Given the description of an element on the screen output the (x, y) to click on. 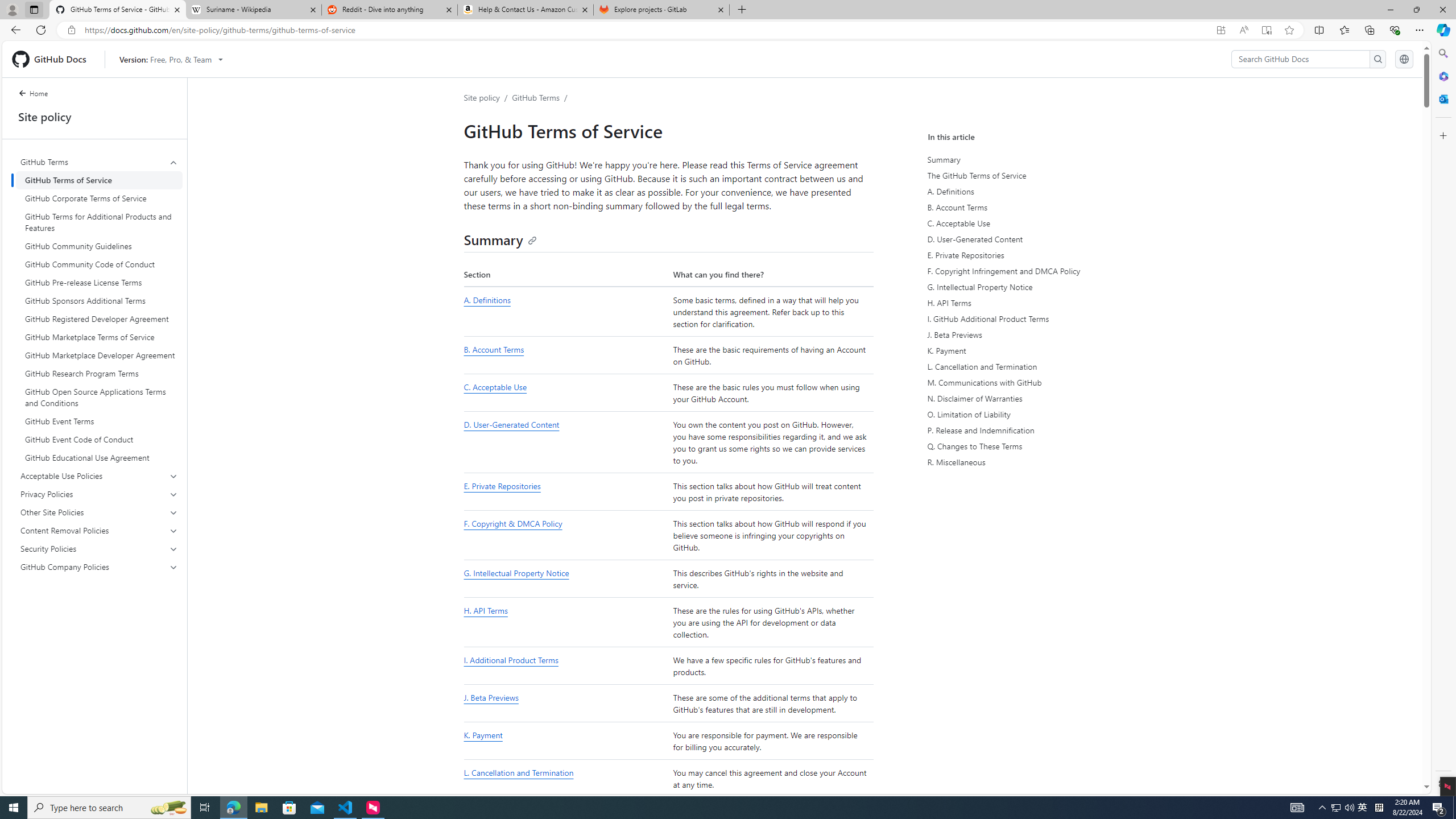
GitHub Marketplace Terms of Service (99, 337)
The GitHub Terms of Service (1034, 175)
Content Removal Policies (99, 530)
D. User-Generated Content (565, 442)
GitHub Marketplace Developer Agreement (99, 355)
GitHub Registered Developer Agreement (99, 318)
G. Intellectual Property Notice (565, 579)
GitHub Event Code of Conduct (99, 439)
GitHub Pre-release License Terms (99, 282)
GitHub Docs (53, 58)
Summary (500, 239)
Acceptable Use Policies (99, 475)
